Given the description of an element on the screen output the (x, y) to click on. 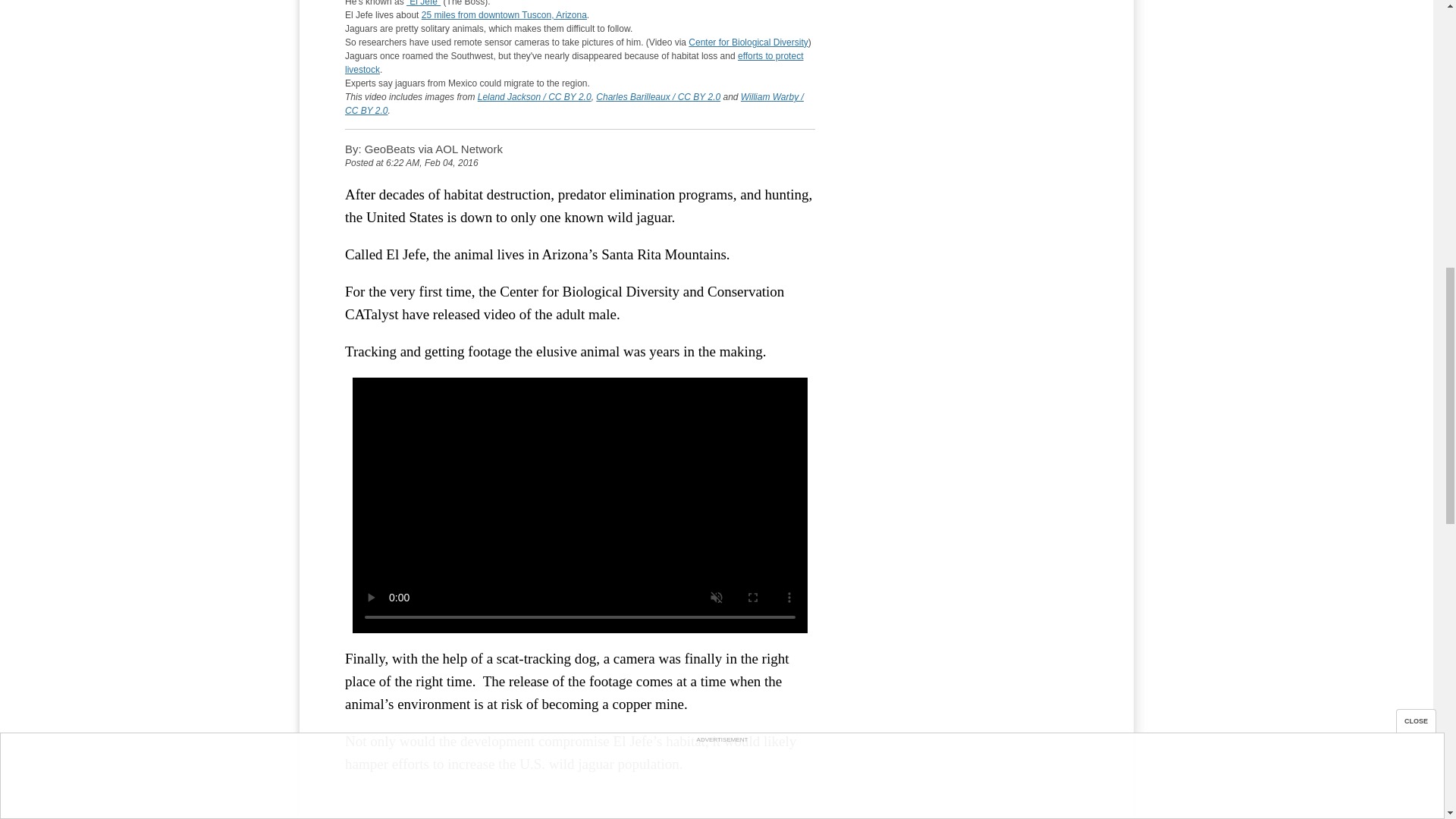
3rd party ad content (973, 56)
